Given the description of an element on the screen output the (x, y) to click on. 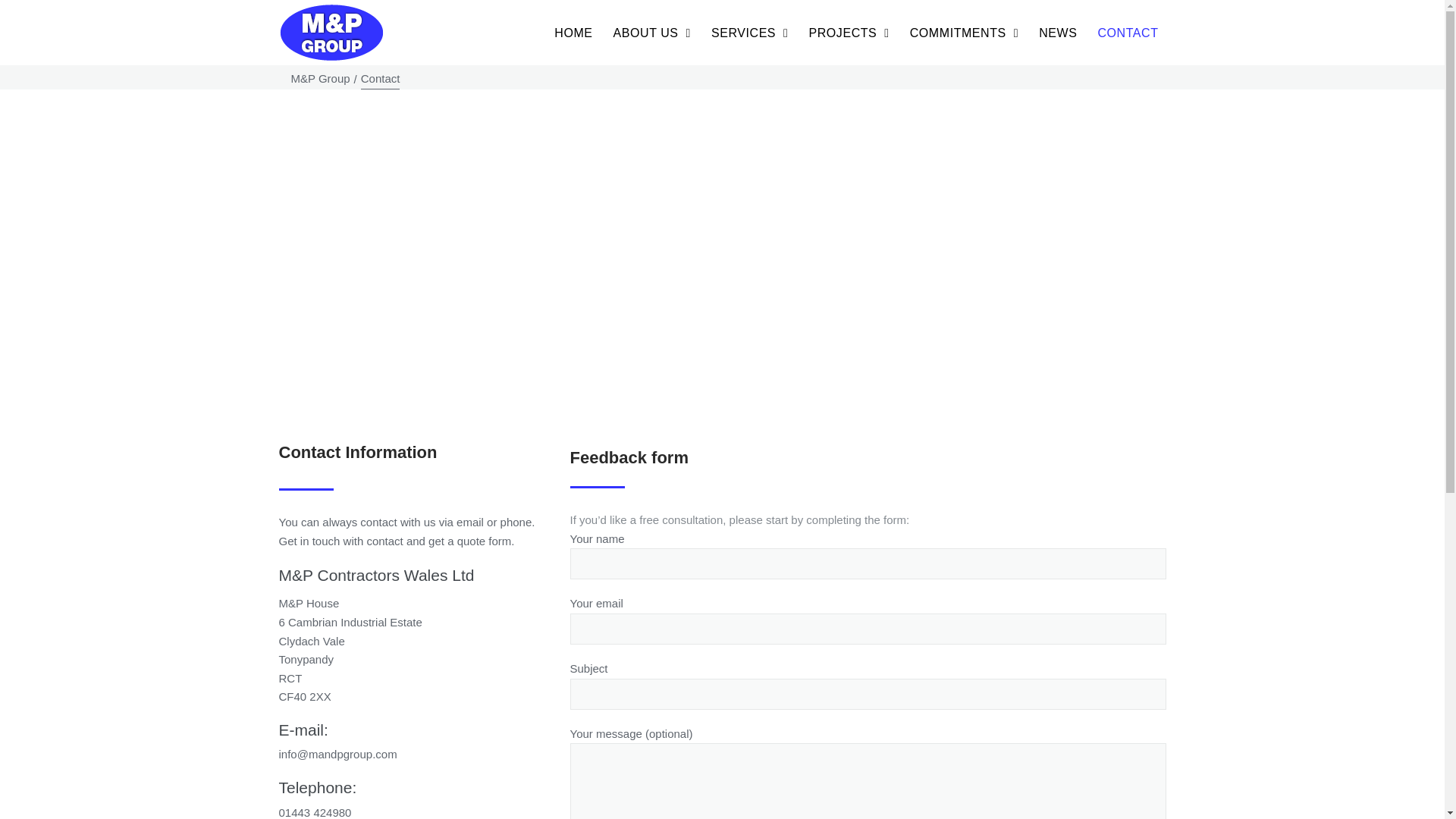
COMMITMENTS (963, 32)
01443 424980 (315, 812)
CONTACT (1126, 32)
ABOUT US (651, 32)
NEWS (1056, 32)
SERVICES (748, 32)
HOME (572, 32)
PROJECTS (847, 32)
